Given the description of an element on the screen output the (x, y) to click on. 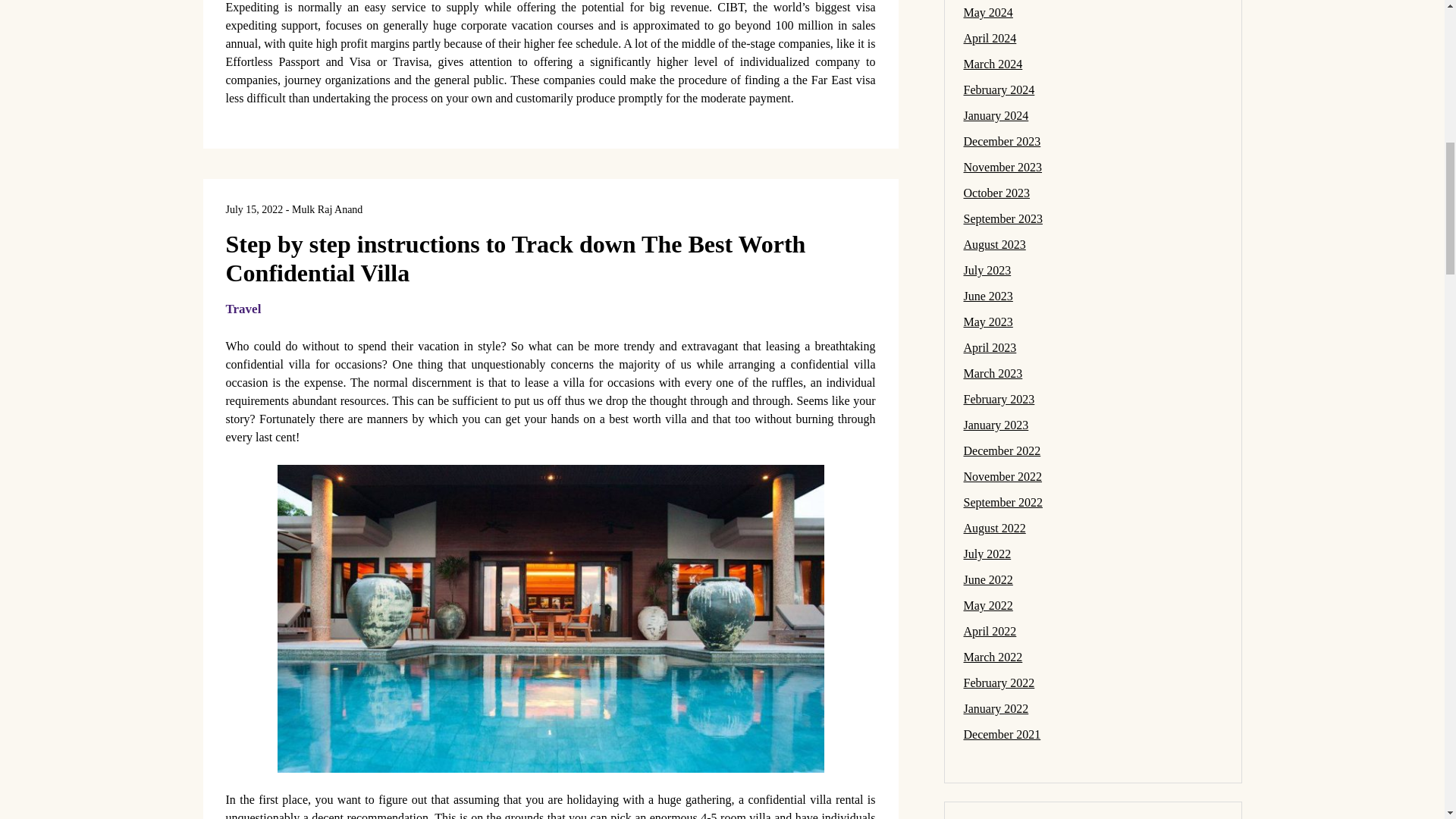
Mulk Raj Anand (327, 209)
Travel (243, 309)
July 15, 2022 (254, 209)
